Given the description of an element on the screen output the (x, y) to click on. 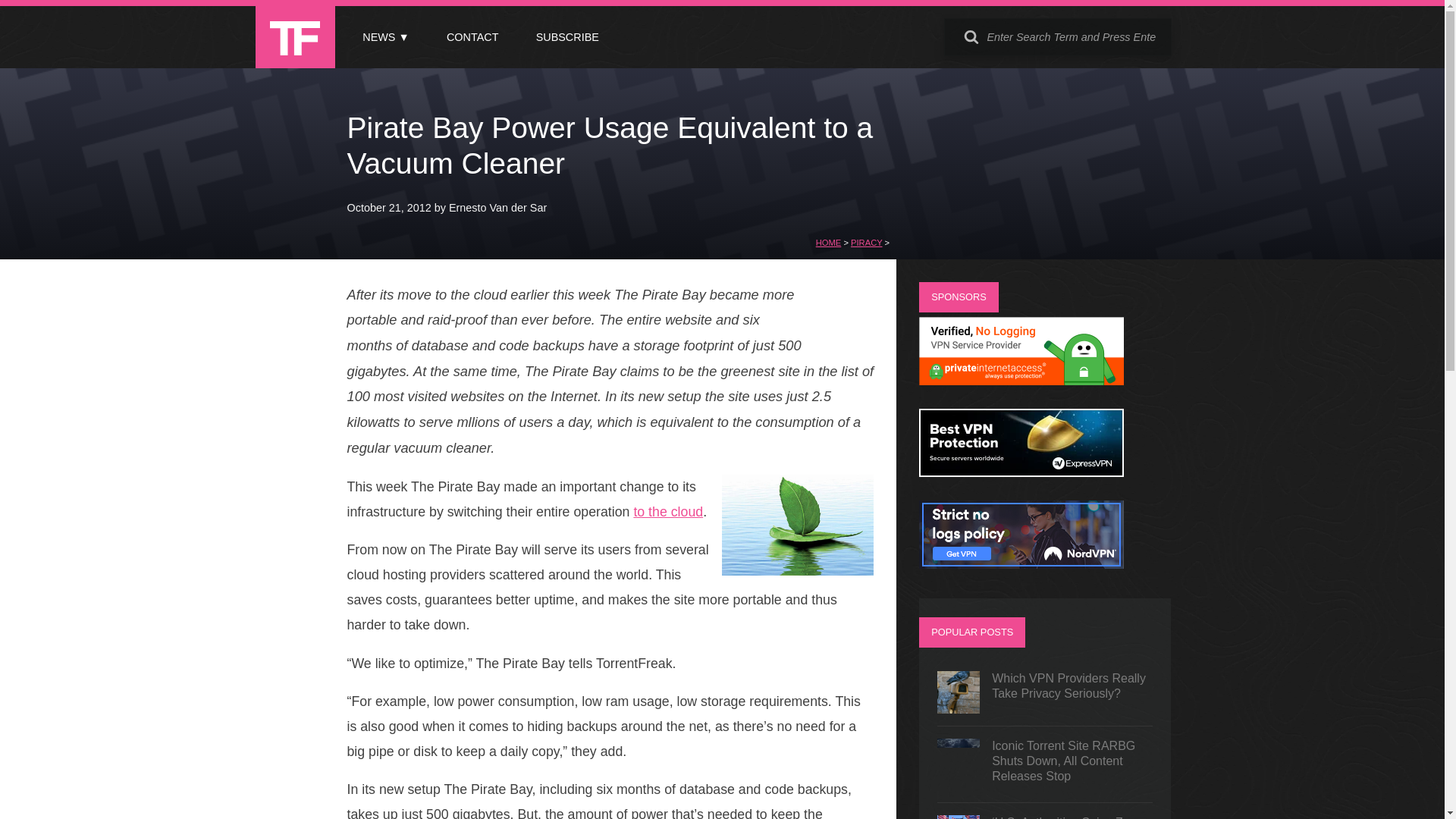
PIRACY (866, 242)
green-bay (797, 525)
ExpressVPN (1021, 472)
Private Internet Access (1021, 380)
SUBSCRIBE (566, 37)
Go to TorrentFreak. (828, 242)
CONTACT (471, 37)
Ernesto Van der Sar (497, 207)
to the cloud (668, 511)
Go to the Piracy category archives. (866, 242)
HOME (828, 242)
Which VPN Providers Really Take Privacy Seriously? (1045, 691)
